Given the description of an element on the screen output the (x, y) to click on. 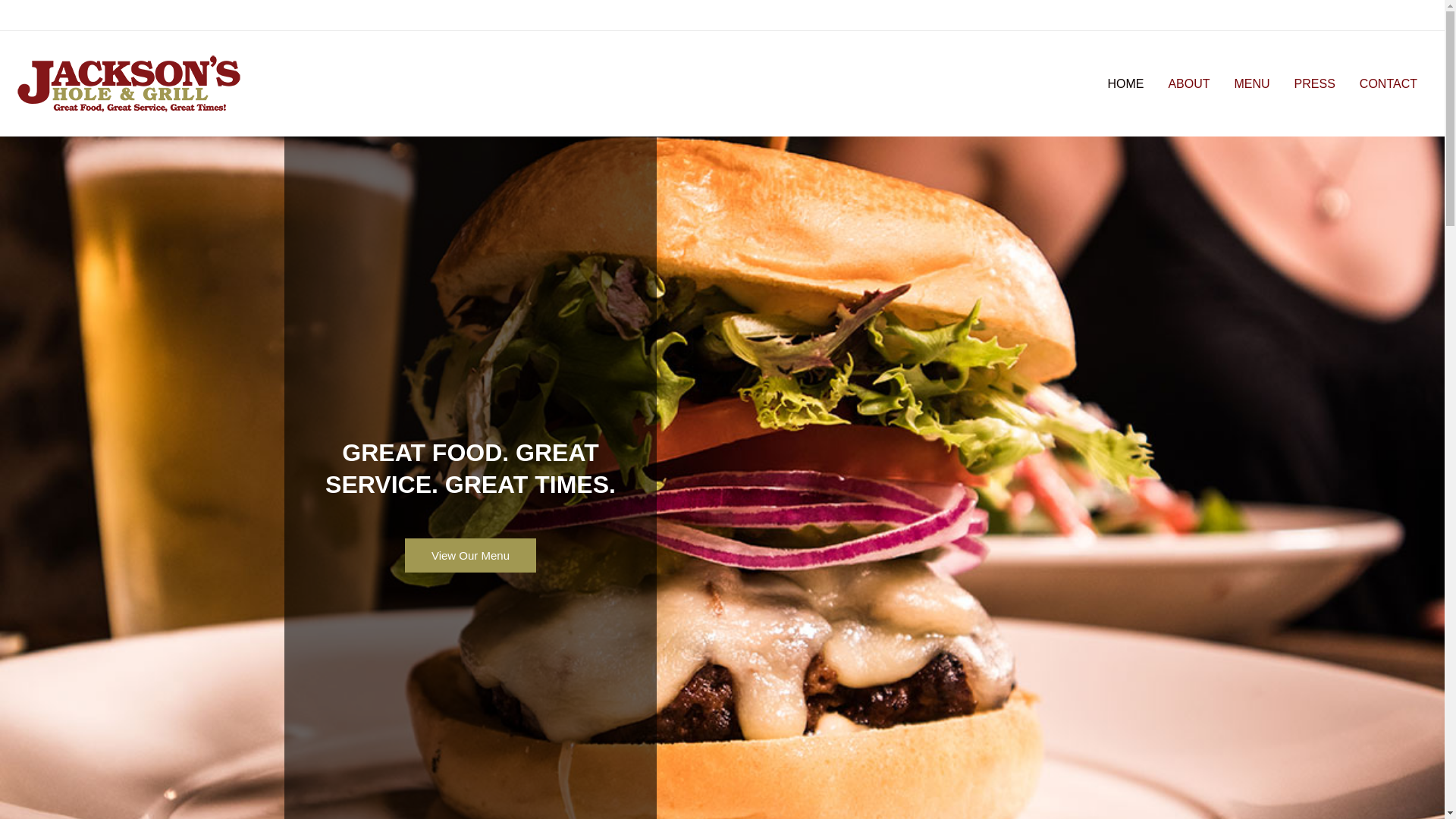
250-354-1919 (1387, 14)
HOME (1125, 82)
ABOUT (1188, 82)
MENU (1252, 82)
CONTACT (1388, 82)
View Our Menu (469, 555)
PRESS (1315, 82)
